Given the description of an element on the screen output the (x, y) to click on. 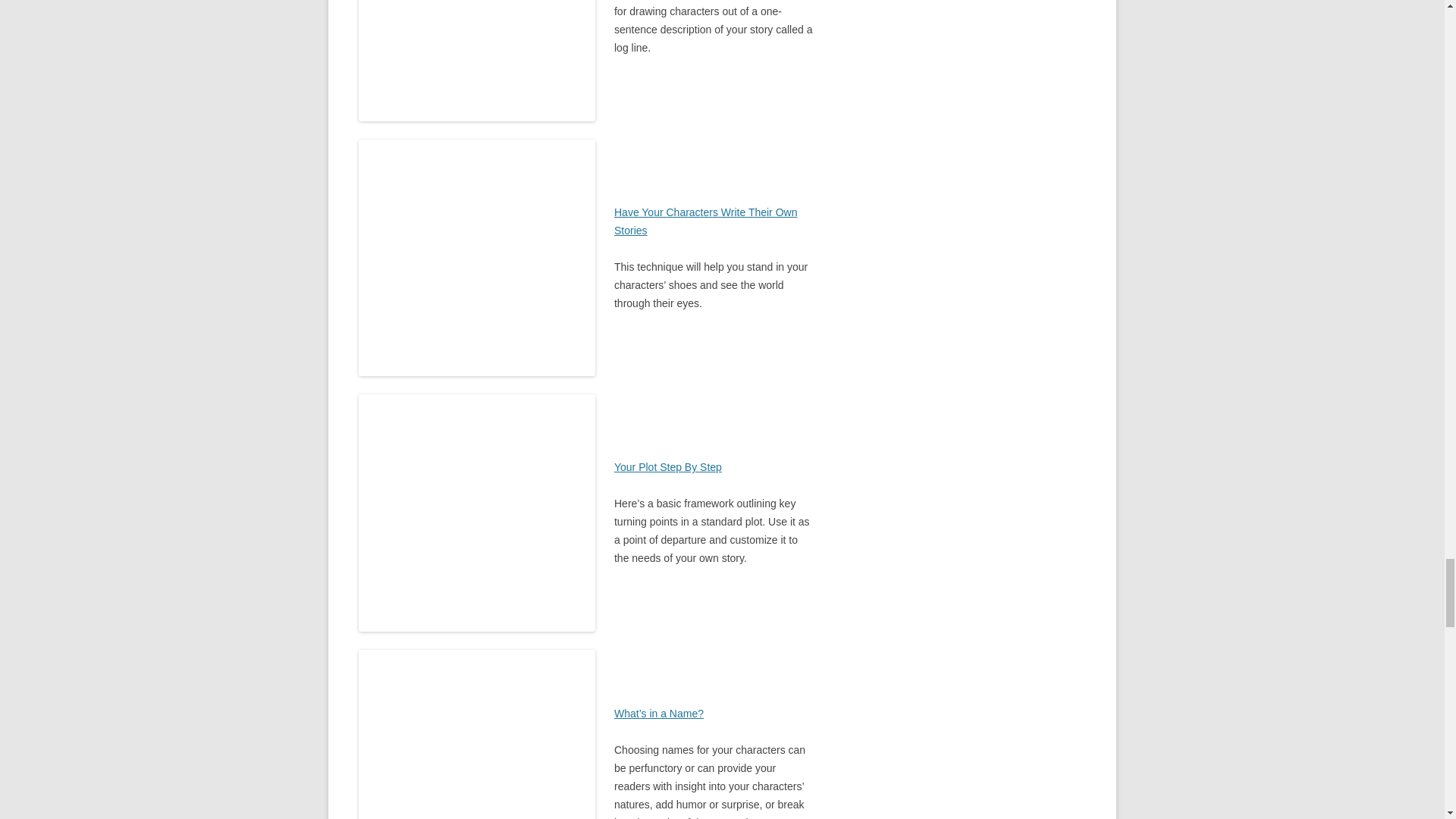
Have Your Characters Write Their Own Stories (705, 221)
Your Plot Step By Step (668, 467)
